Given the description of an element on the screen output the (x, y) to click on. 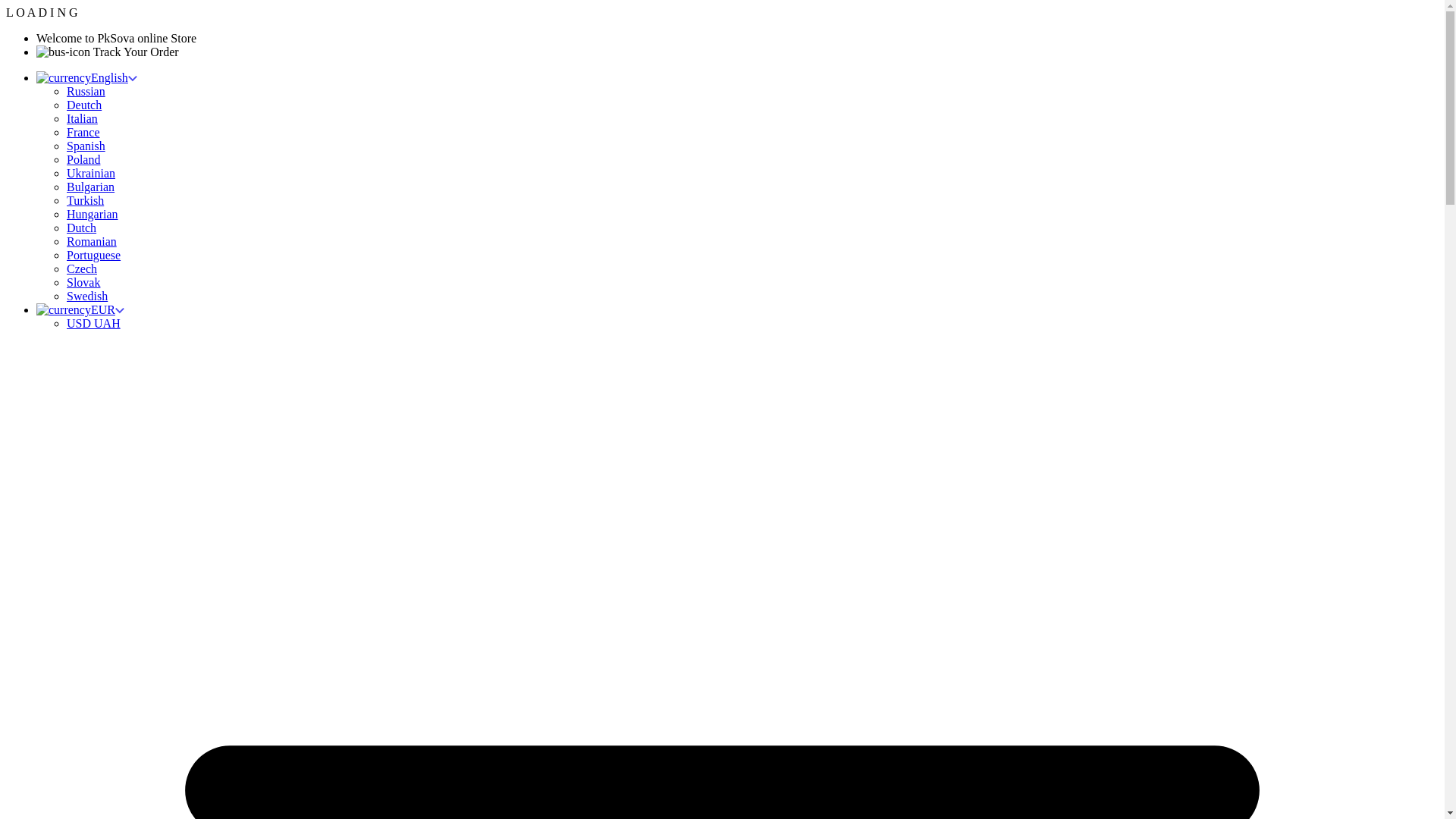
Italian (81, 118)
Deutch (83, 104)
France (83, 132)
Czech (81, 268)
English (86, 77)
EUR (79, 309)
Spanish (85, 145)
Turkish (84, 200)
Slovak (83, 282)
Bulgarian (90, 186)
Russian (85, 91)
Hungarian (91, 214)
Romanian (91, 241)
USD (80, 323)
Portuguese (93, 254)
